Given the description of an element on the screen output the (x, y) to click on. 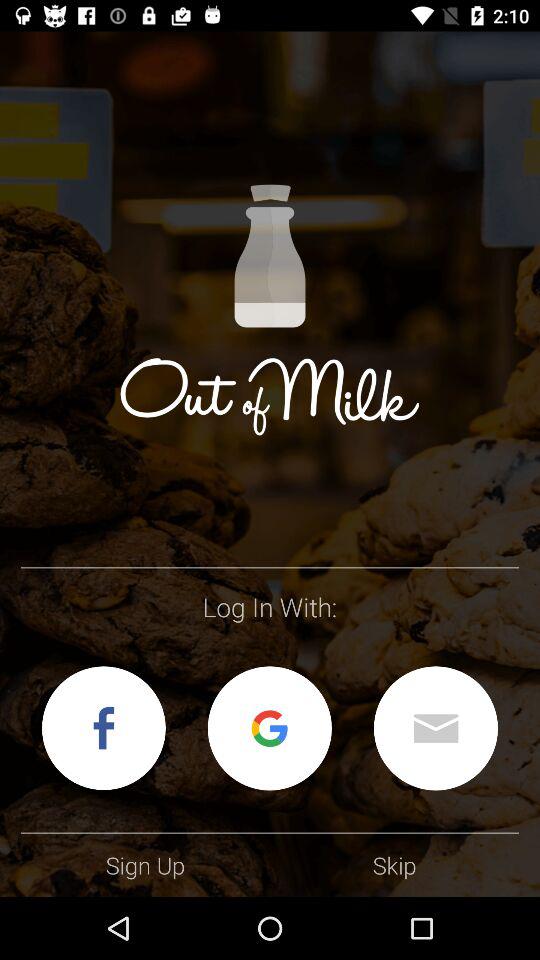
go to inbox (435, 728)
